Given the description of an element on the screen output the (x, y) to click on. 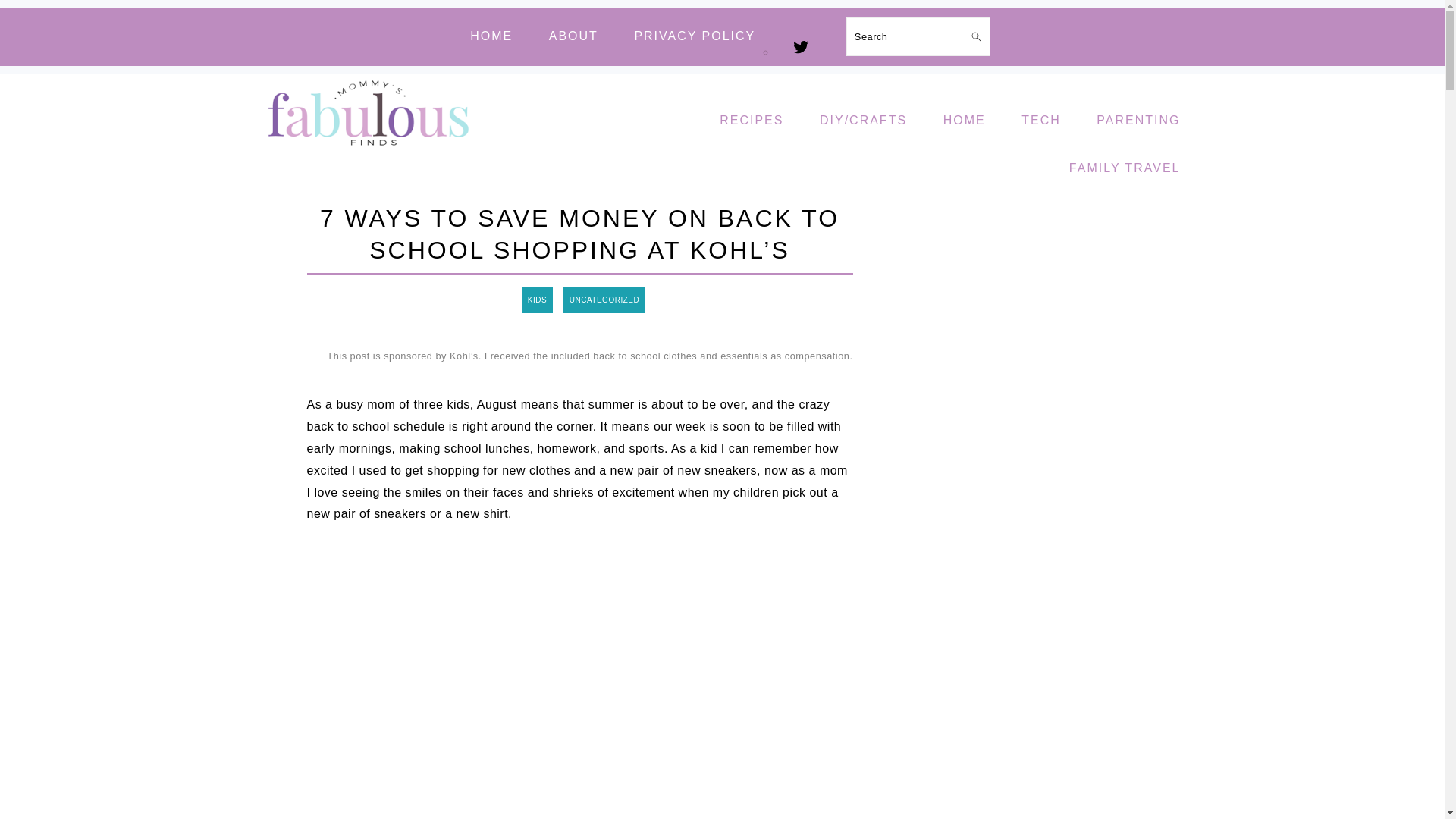
All Recipes (751, 120)
PARENTING (1137, 120)
UNCATEGORIZED (604, 299)
Mommy's Fabulous Finds (370, 156)
RECIPES (751, 120)
PRIVACY POLICY (694, 36)
ABOUT (573, 36)
TECH (1041, 120)
HOME (491, 36)
FAMILY TRAVEL (1124, 168)
Mommy's Fabulous Finds (370, 113)
